Given the description of an element on the screen output the (x, y) to click on. 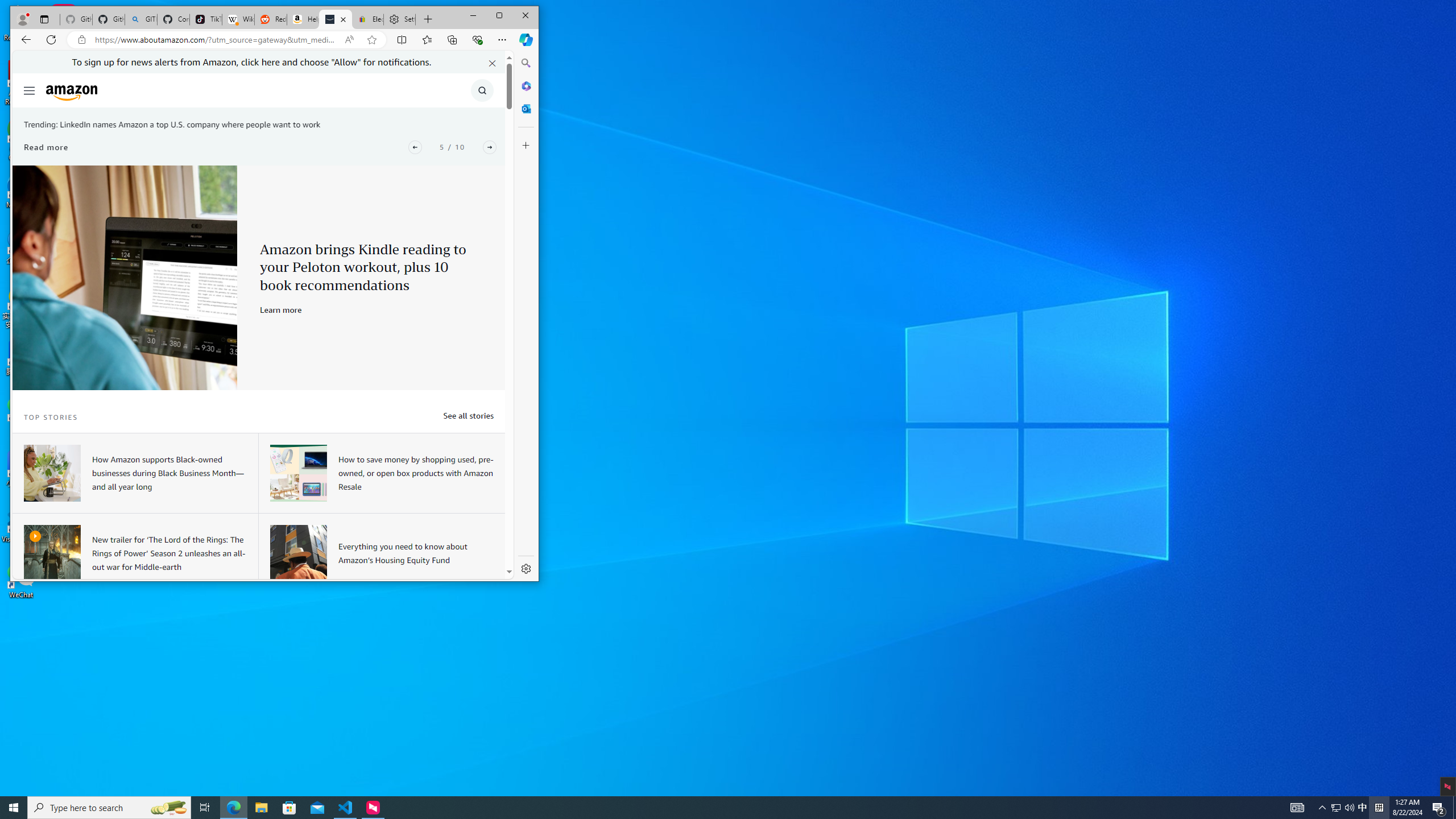
GITHUB - Search (140, 19)
Next (489, 146)
Q2790: 100% (1349, 807)
Tray Input Indicator - Chinese (Simplified, China) (1362, 807)
See all stories (1378, 807)
Wikipedia, the free encyclopedia (467, 415)
